Given the description of an element on the screen output the (x, y) to click on. 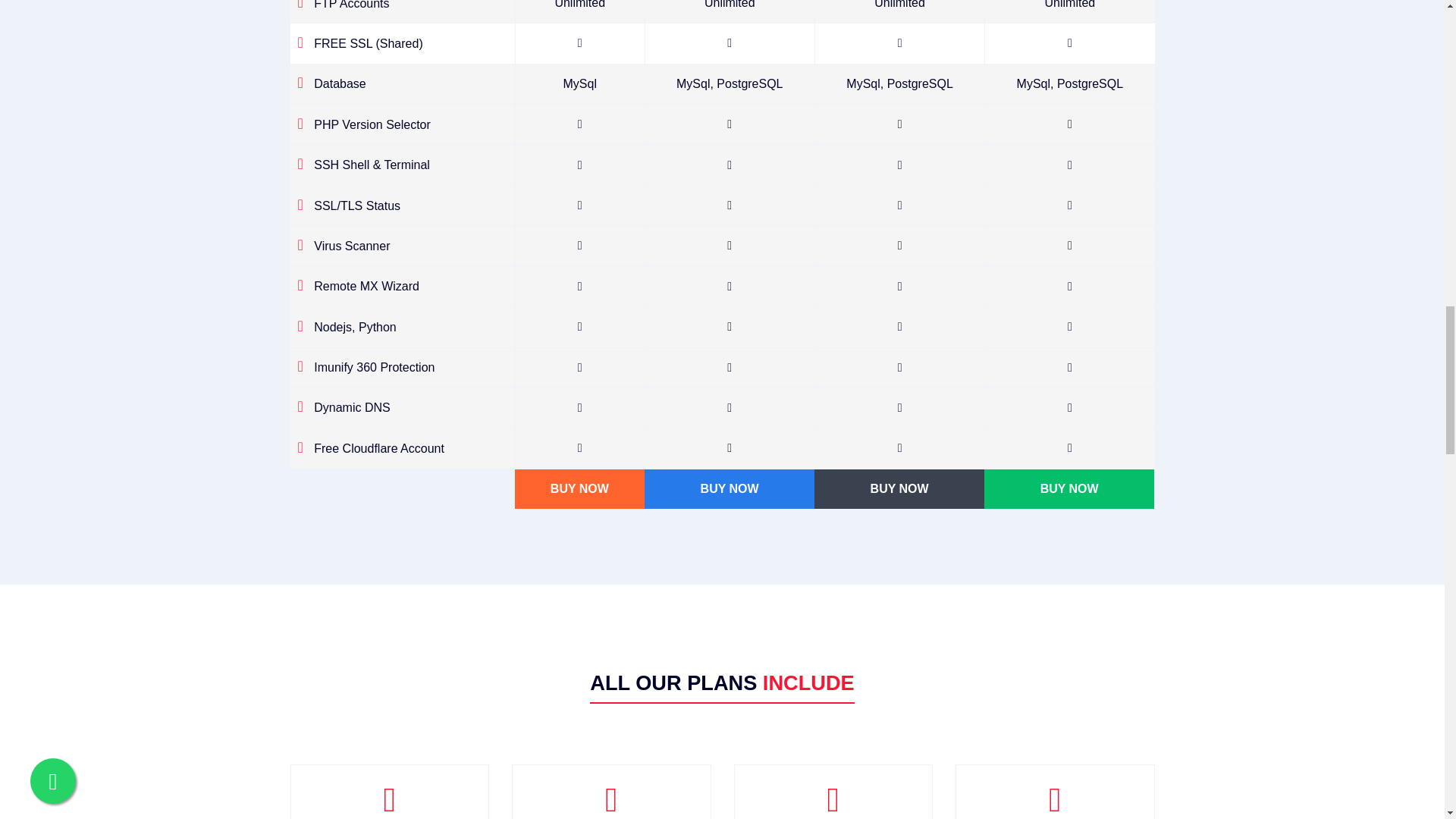
BUY NOW (580, 488)
BUY NOW (1069, 488)
BUY NOW (729, 488)
BUY NOW (898, 488)
